Given the description of an element on the screen output the (x, y) to click on. 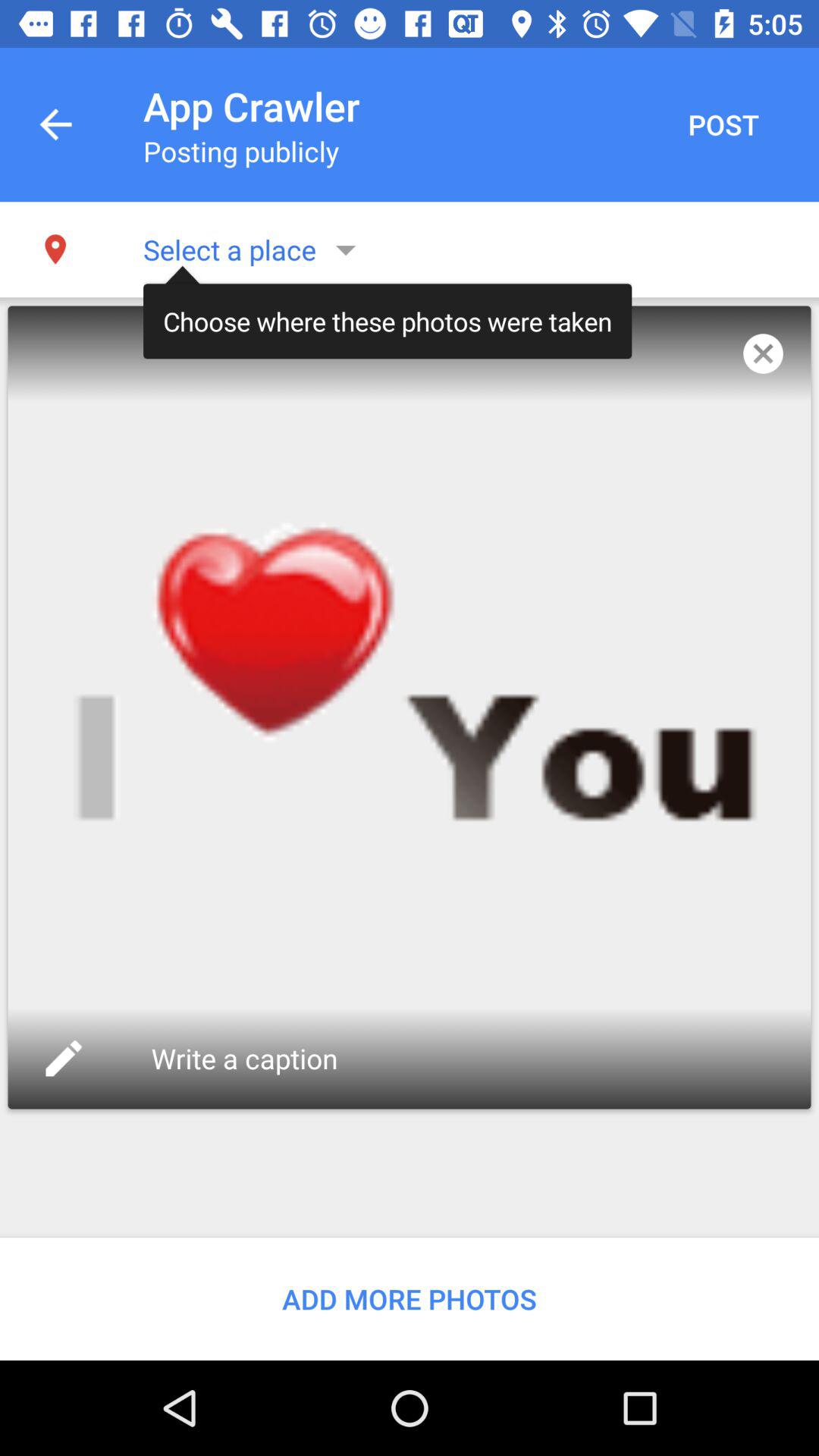
press the post (723, 124)
